Given the description of an element on the screen output the (x, y) to click on. 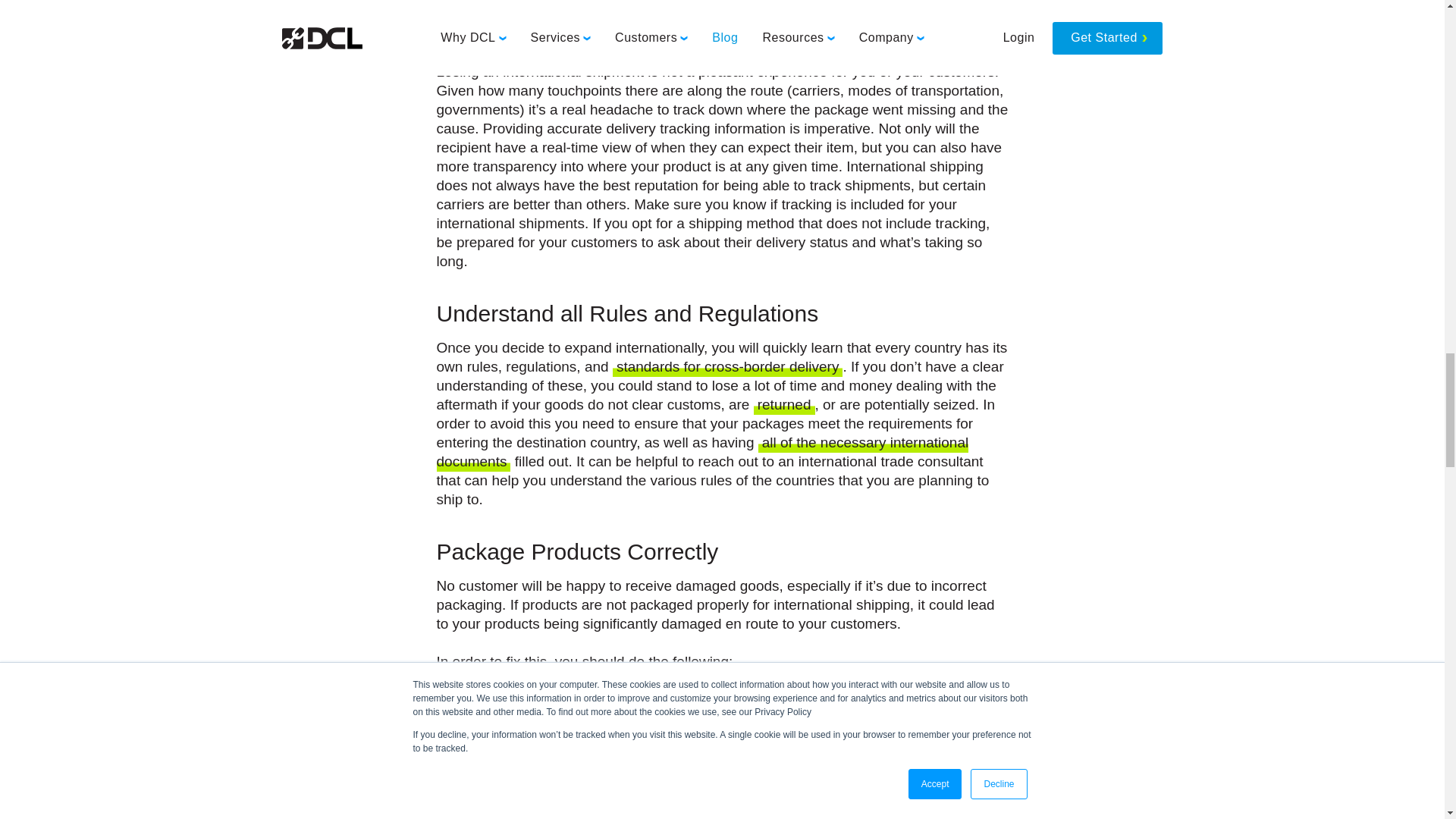
returned (784, 405)
standards for cross-border delivery (727, 367)
all of the necessary international documents (702, 452)
